Given the description of an element on the screen output the (x, y) to click on. 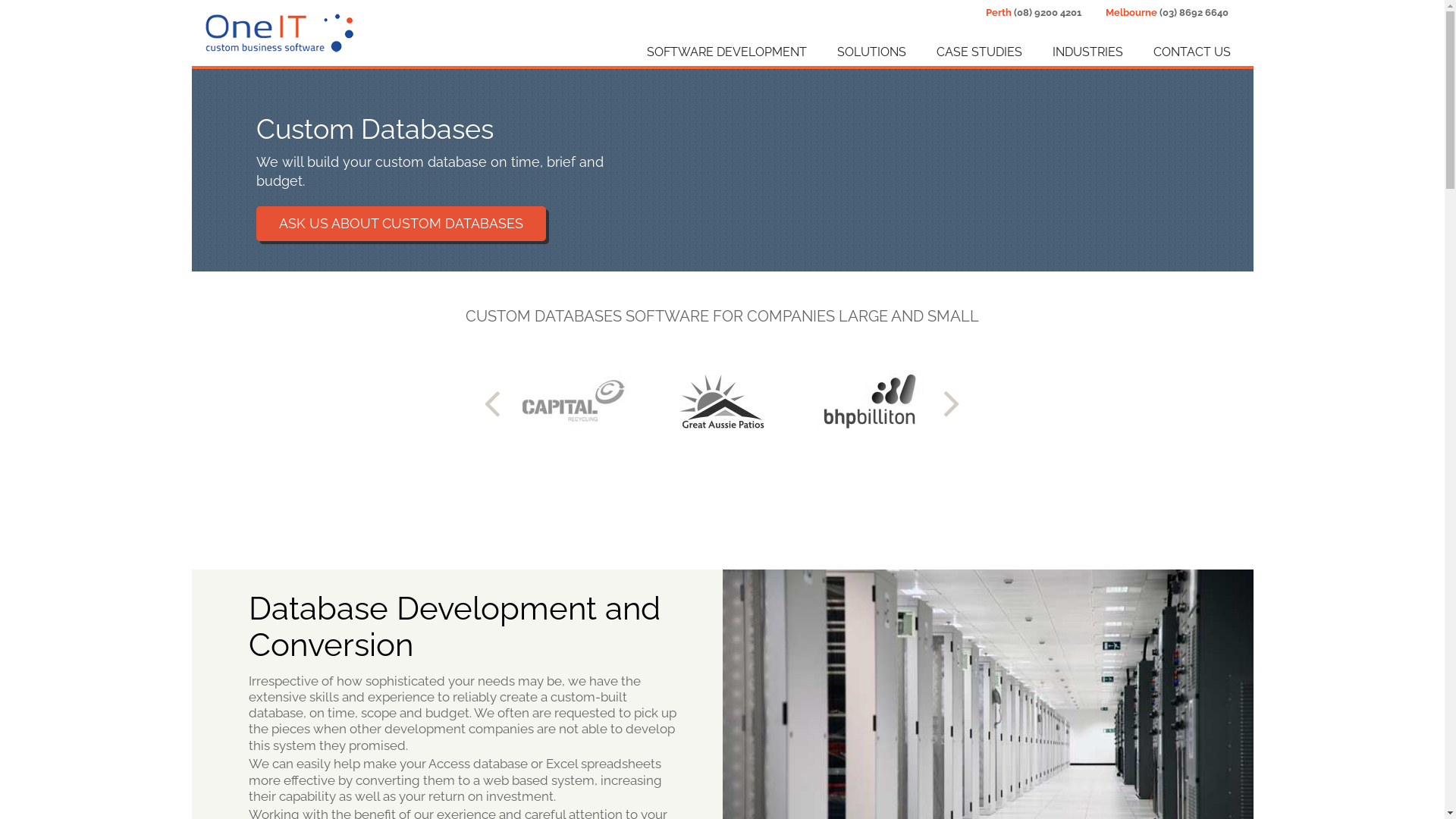
Software and Web Designer - OneIT Element type: hover (278, 31)
ASK US ABOUT CUSTOM DATABASES Element type: text (401, 223)
Capital Recycling Element type: hover (574, 401)
Next Element type: text (947, 404)
Great Aussie Patios Element type: hover (721, 401)
BHP Billiton Element type: hover (869, 401)
SOFTWARE DEVELOPMENT Element type: text (710, 51)
Prev Element type: text (497, 404)
CONTACT US Element type: text (1176, 51)
SOLUTIONS Element type: text (856, 51)
CASE STUDIES Element type: text (963, 51)
INDUSTRIES Element type: text (1072, 51)
